Given the description of an element on the screen output the (x, y) to click on. 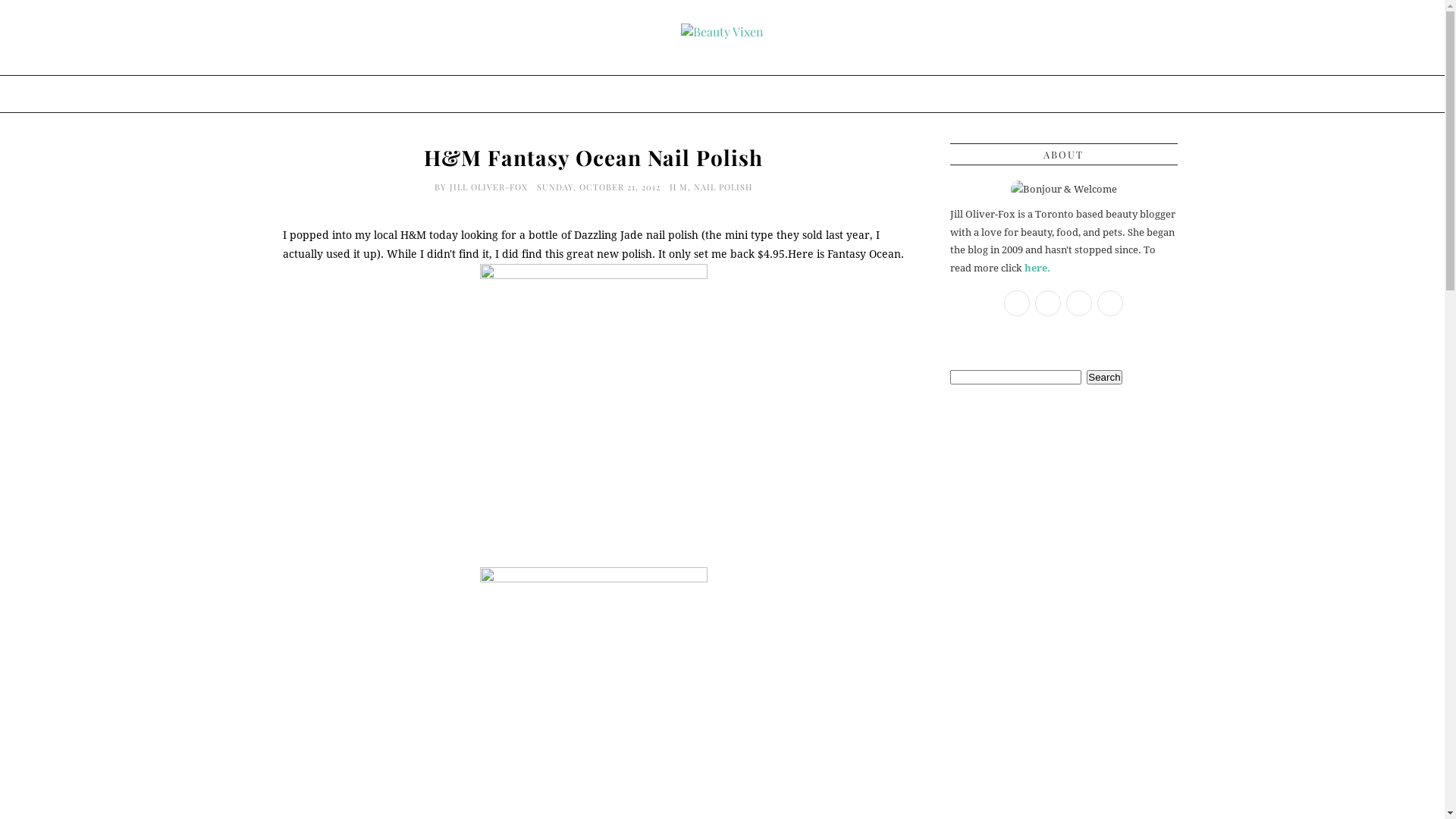
JILL OLIVER-FOX Element type: text (489, 186)
NAIL POLISH Element type: text (722, 186)
Search Element type: text (1103, 377)
here. Element type: text (1036, 267)
H M Element type: text (678, 186)
